Given the description of an element on the screen output the (x, y) to click on. 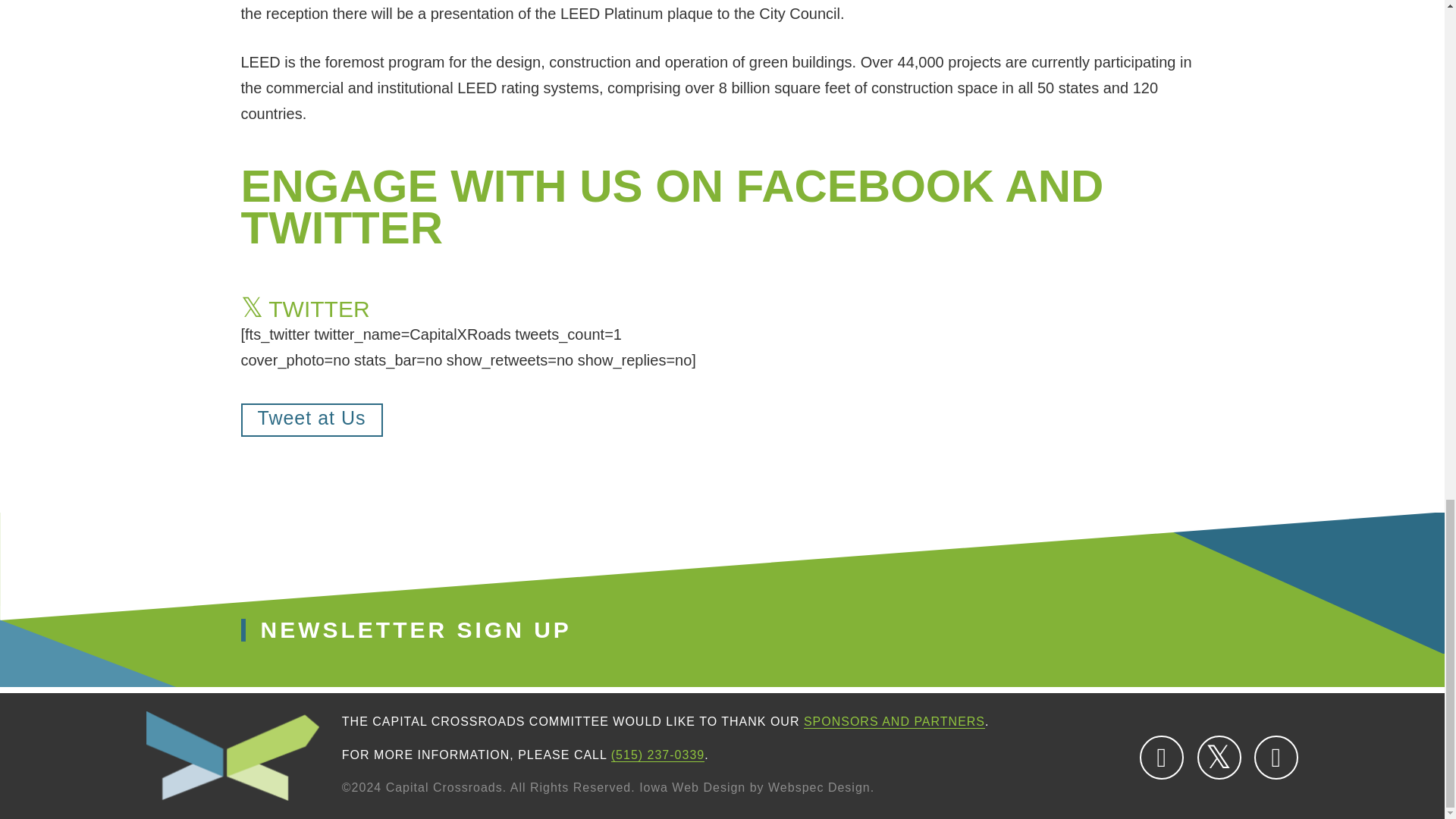
Tweet at Us (311, 419)
Iowa Web Design (692, 787)
TWITTER (1218, 757)
SPONSORS AND PARTNERS (894, 721)
FACEBOOK (1161, 757)
INSTAGRAM (1275, 757)
